Given the description of an element on the screen output the (x, y) to click on. 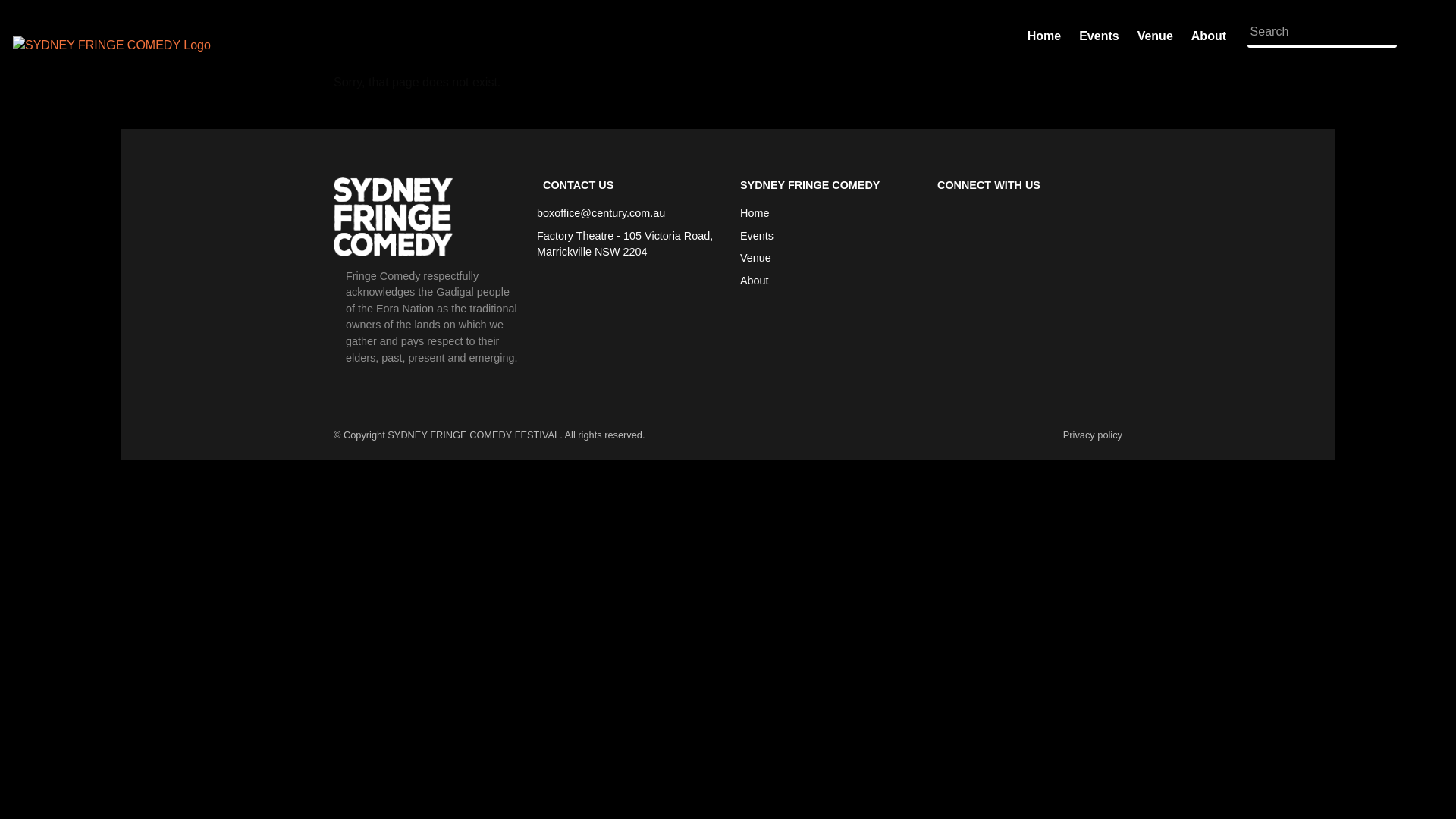
About Element type: text (754, 281)
Home Element type: text (1043, 36)
About Element type: text (1208, 36)
Venue Element type: text (755, 258)
Events Element type: text (756, 236)
Venue Element type: text (1155, 36)
Events Element type: text (1098, 36)
boxoffice@century.com.au Element type: text (600, 213)
Privacy policy Element type: text (1092, 434)
Home Element type: text (754, 213)
